Given the description of an element on the screen output the (x, y) to click on. 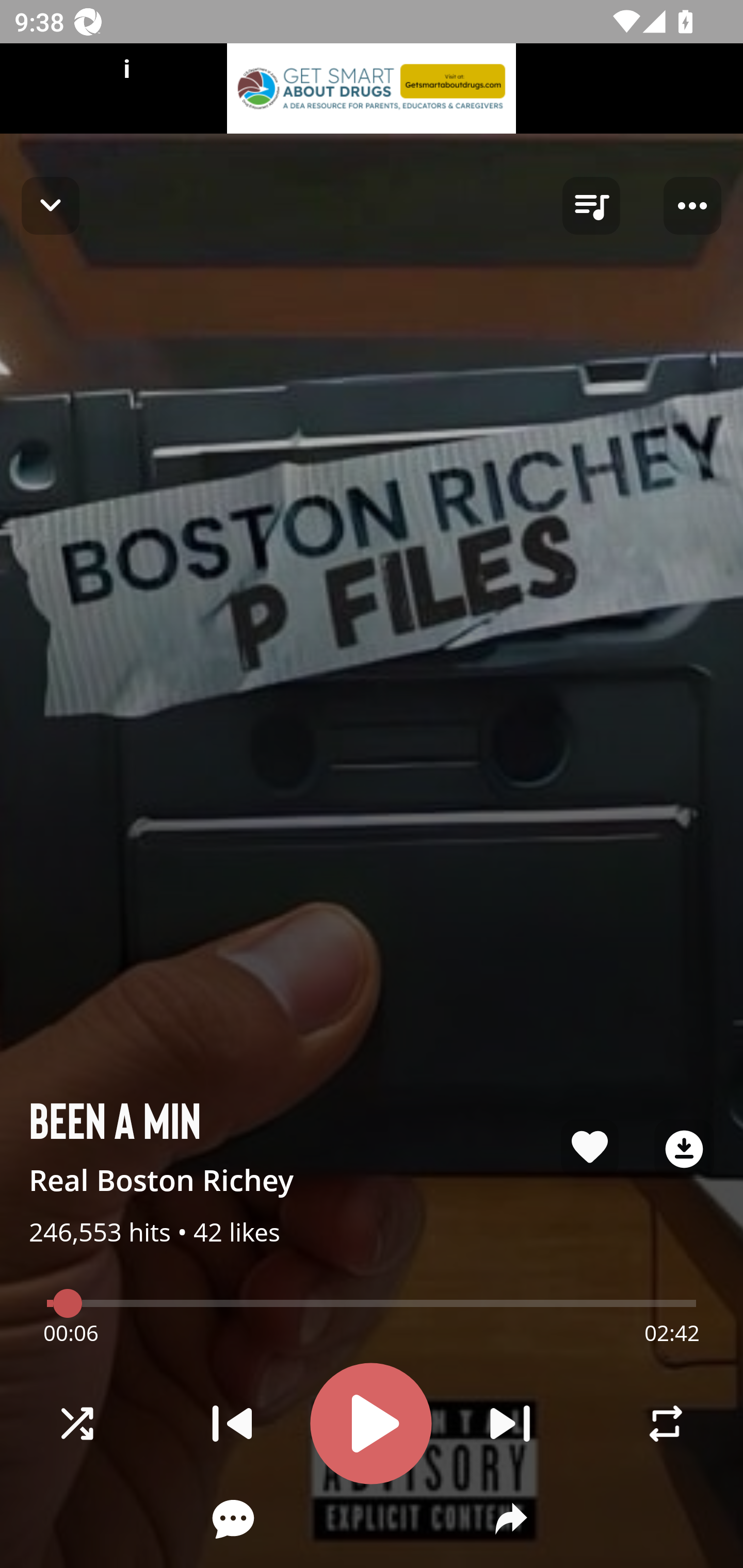
Navigate up (50, 205)
queue (590, 206)
Player options (692, 206)
